Given the description of an element on the screen output the (x, y) to click on. 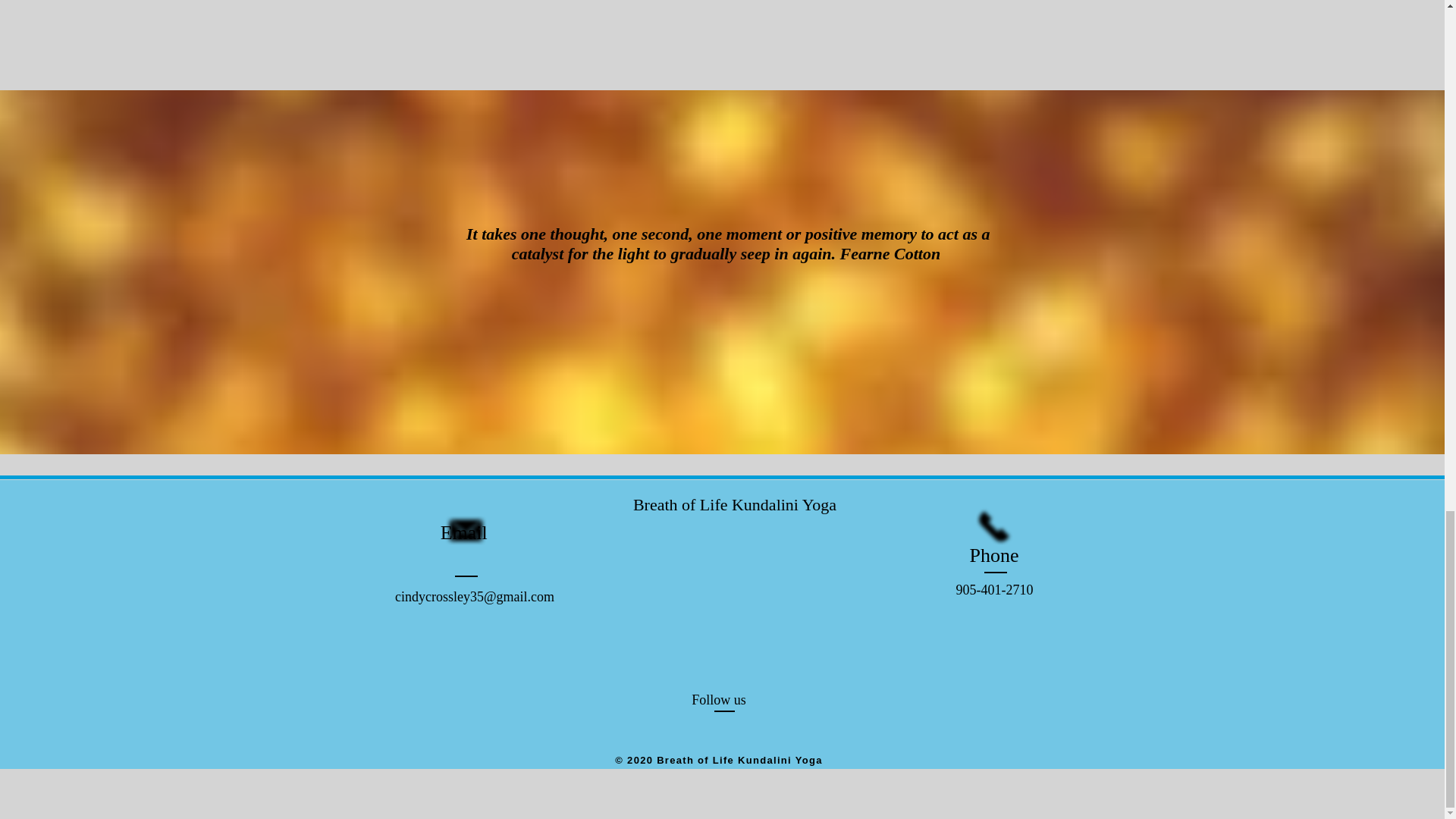
Click to email Cindy (466, 530)
Click to phone Cindy (993, 526)
